Given the description of an element on the screen output the (x, y) to click on. 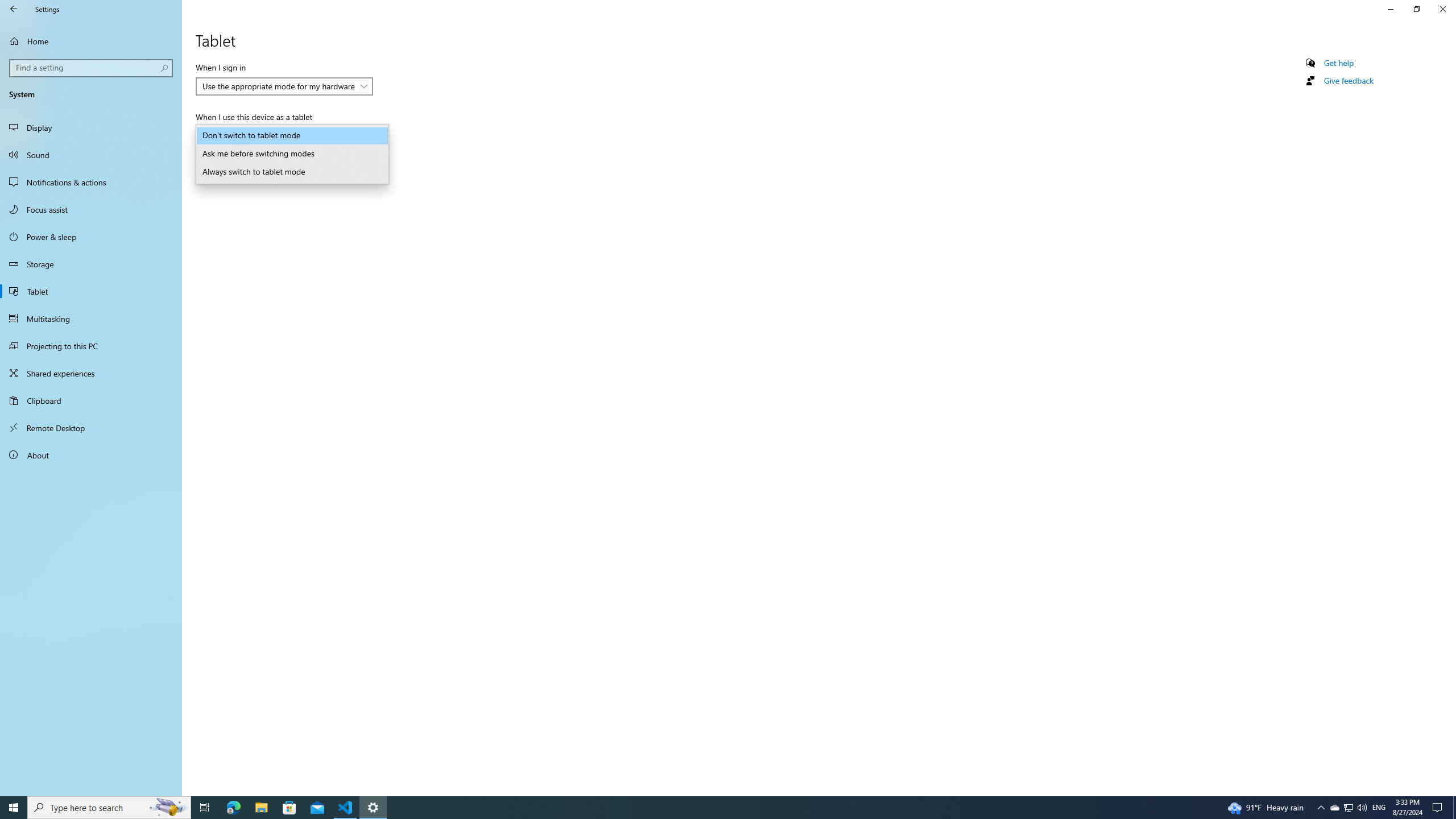
Shared experiences (91, 372)
Start (13, 807)
Clipboard (91, 400)
Restore Settings (1416, 9)
Tablet (91, 290)
When I sign in (283, 85)
Storage (91, 263)
Always switch to tablet mode (292, 171)
Search highlights icon opens search home window (167, 807)
Remote Desktop (91, 427)
Get help (1338, 62)
Multitasking (91, 318)
Use the appropriate mode for my hardware (278, 86)
Tray Input Indicator - English (United States) (1378, 807)
